Given the description of an element on the screen output the (x, y) to click on. 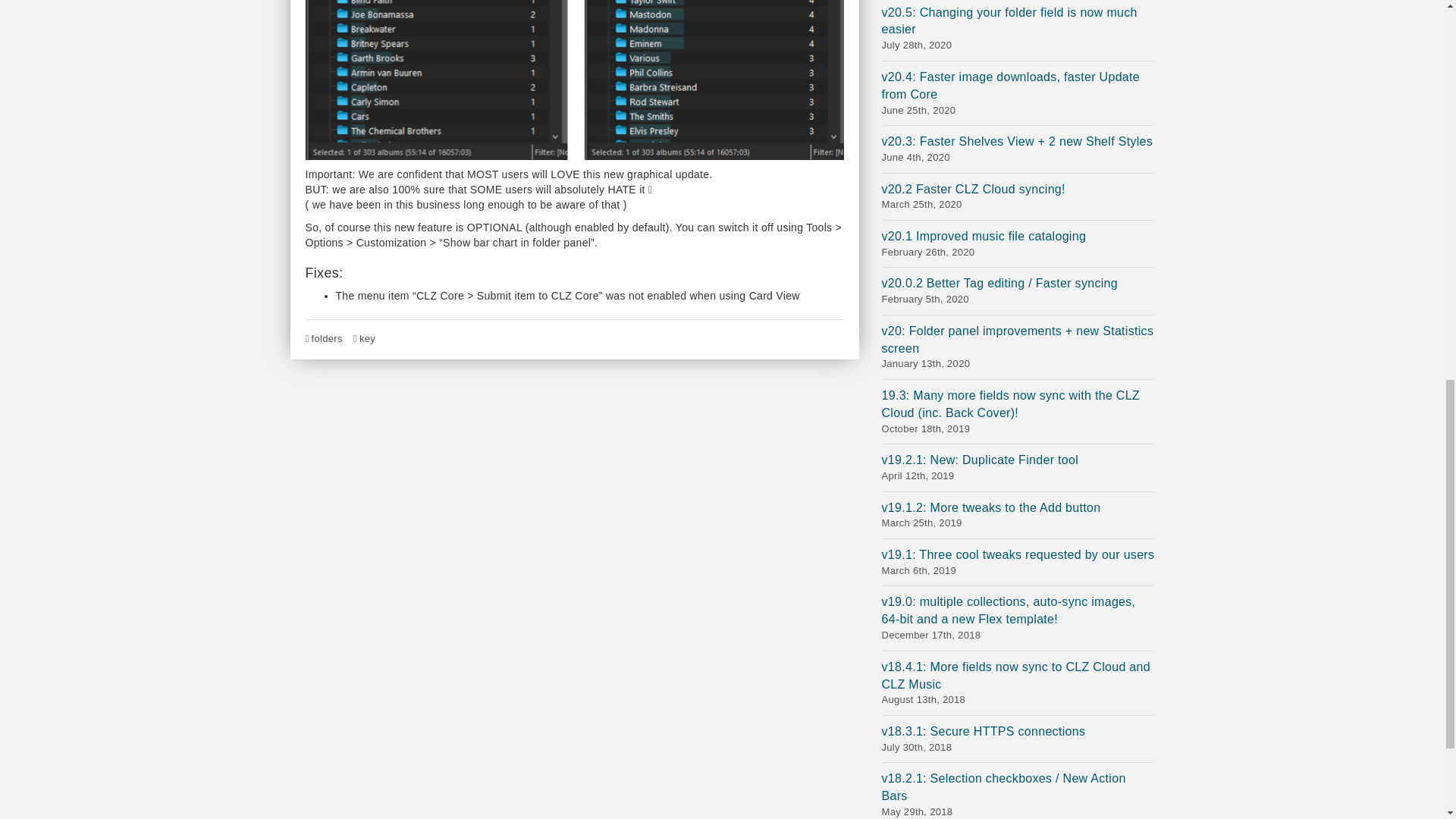
key (1017, 196)
folders (1017, 243)
